Given the description of an element on the screen output the (x, y) to click on. 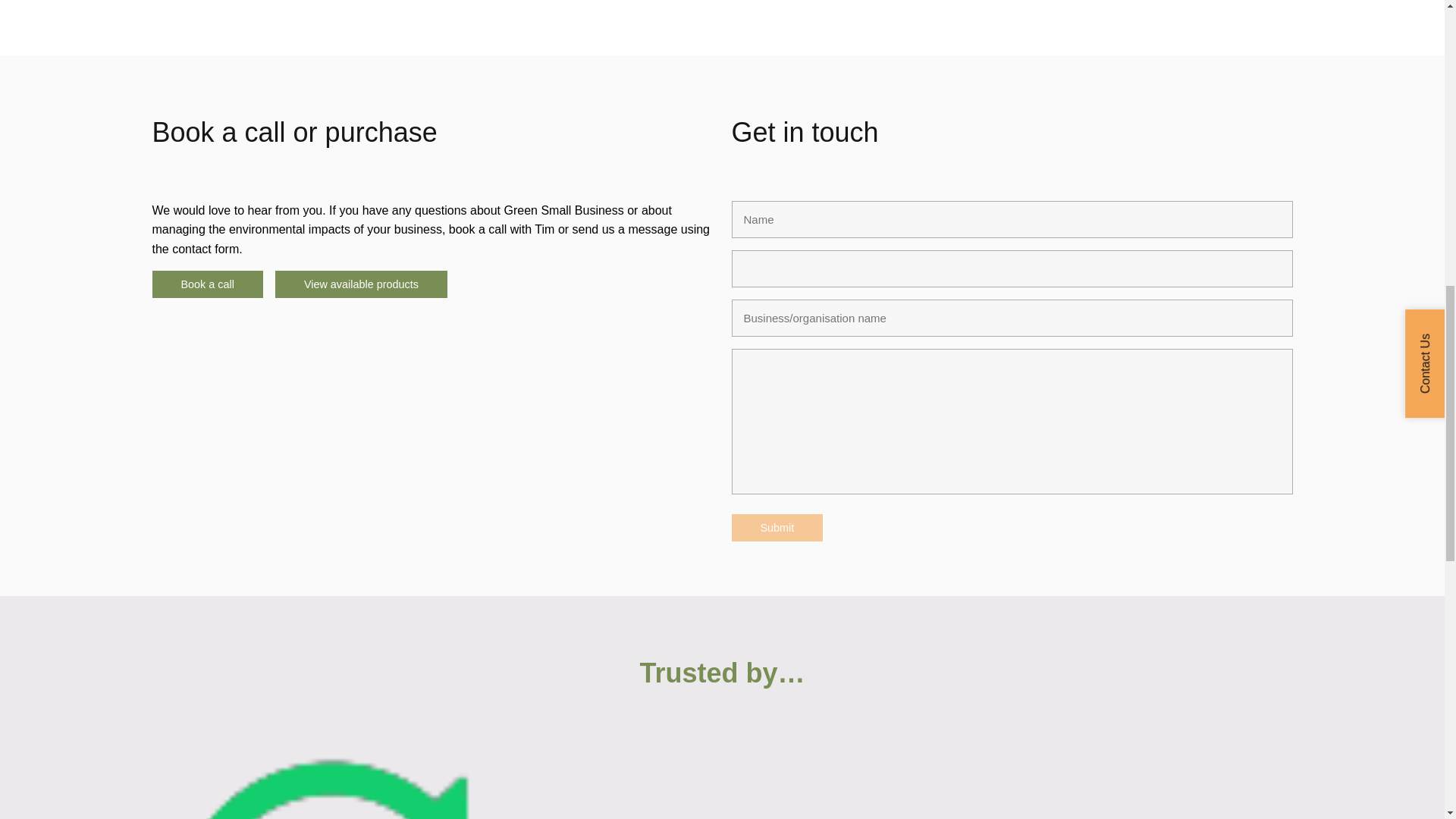
Book a call (206, 284)
View available products (360, 284)
View available products (360, 284)
Submit (776, 527)
Submit (776, 527)
Book a call (206, 284)
